Given the description of an element on the screen output the (x, y) to click on. 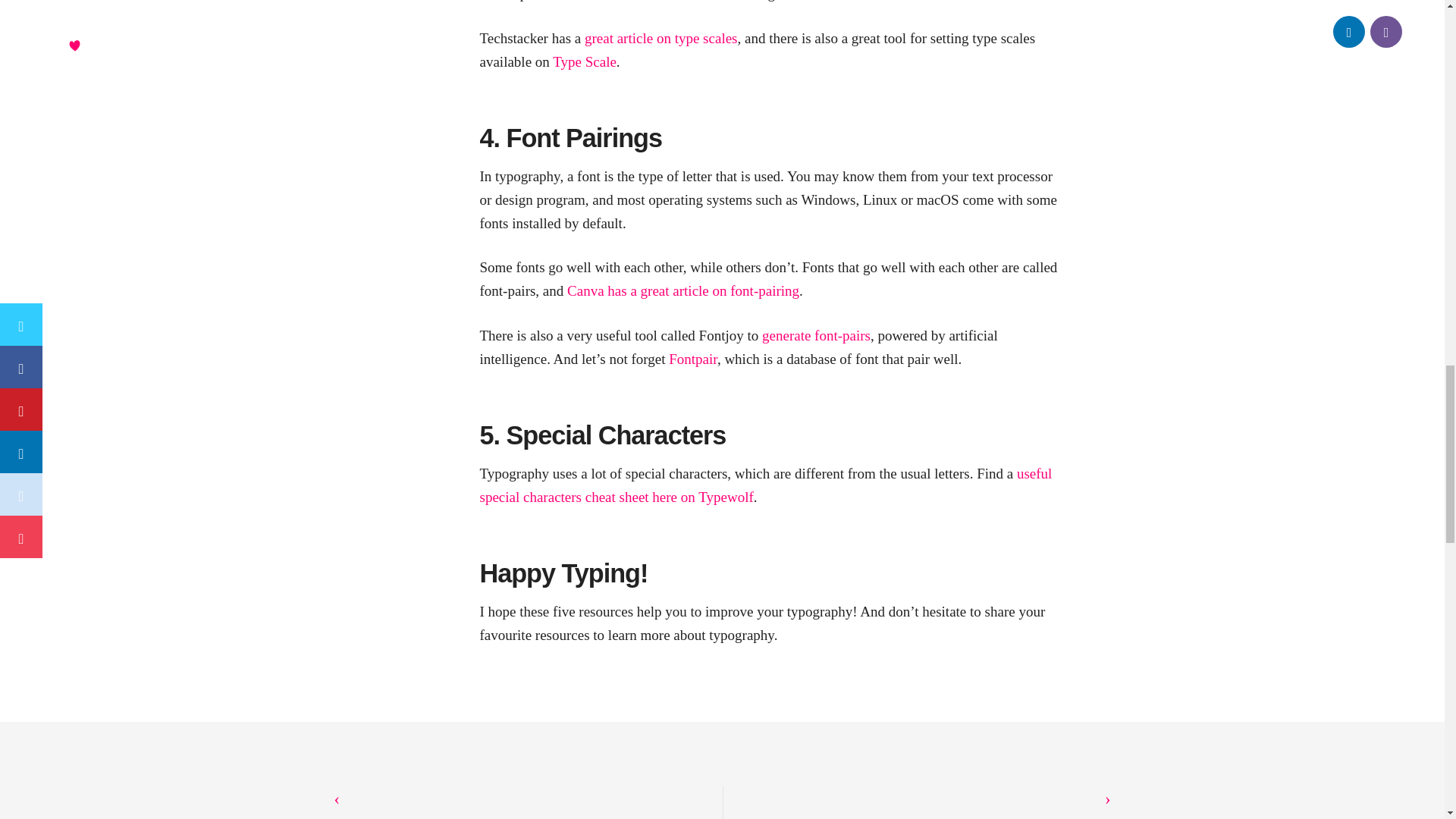
Canva has a great article on font-pairing (683, 290)
useful special characters cheat sheet here on Typewolf (765, 485)
Type Scale (584, 61)
Fontpair (692, 358)
great article on type scales (661, 37)
generate font-pairs (815, 335)
